Given the description of an element on the screen output the (x, y) to click on. 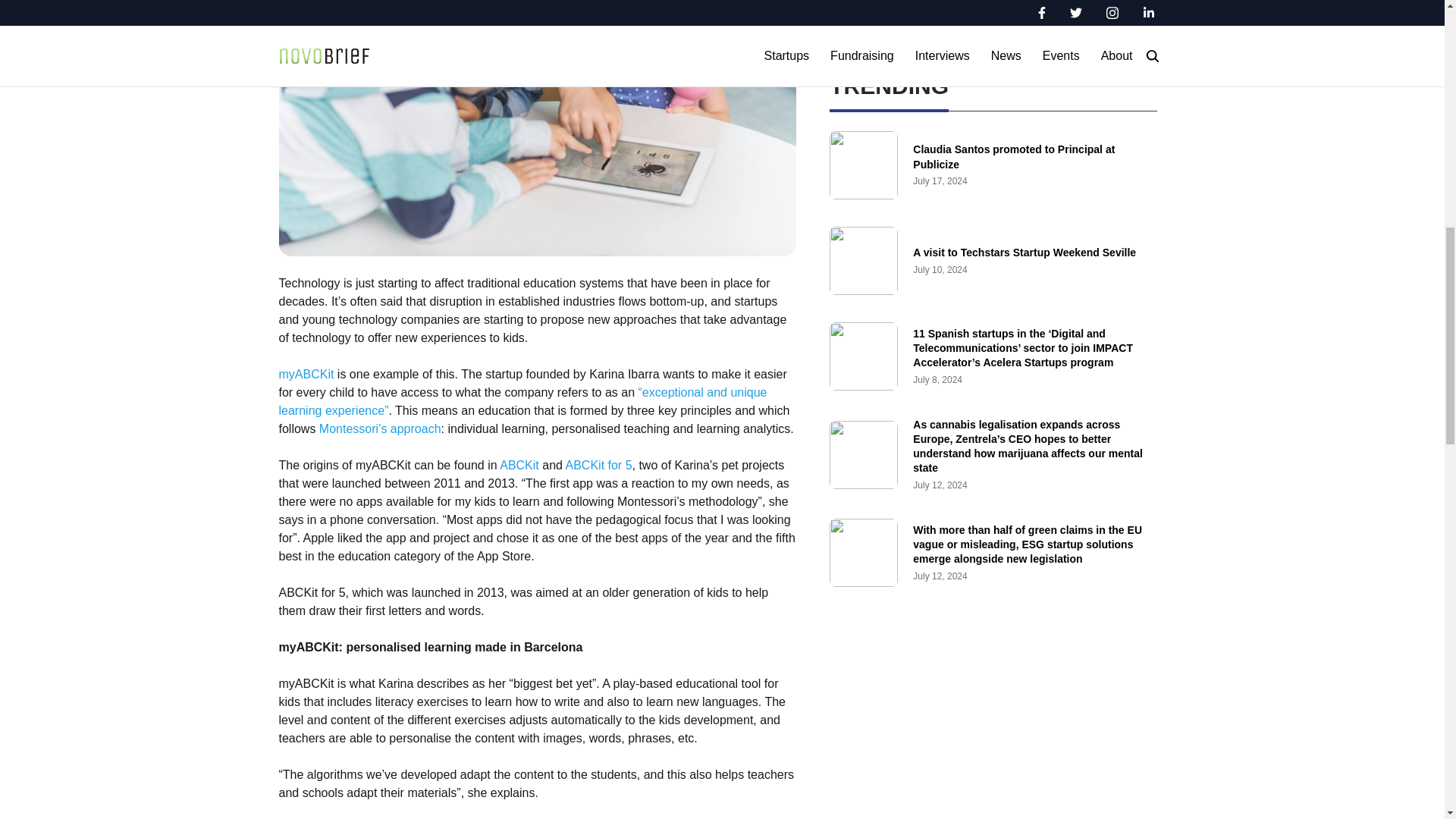
ABCKit (518, 464)
ABCKit for 5 (598, 464)
myABCKit (306, 373)
